Given the description of an element on the screen output the (x, y) to click on. 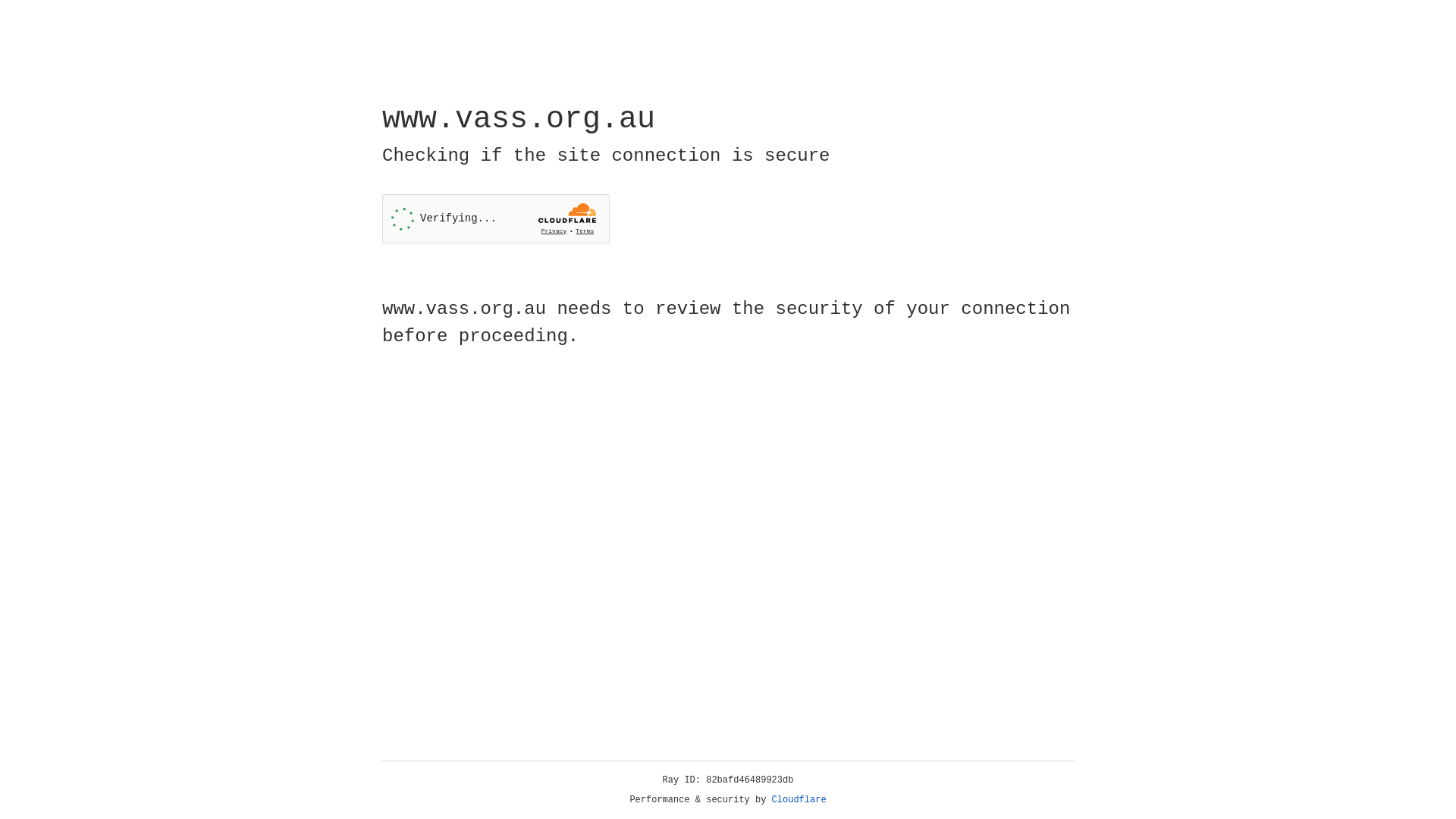
Widget containing a Cloudflare security challenge Element type: hover (495, 218)
Cloudflare Element type: text (798, 799)
